Given the description of an element on the screen output the (x, y) to click on. 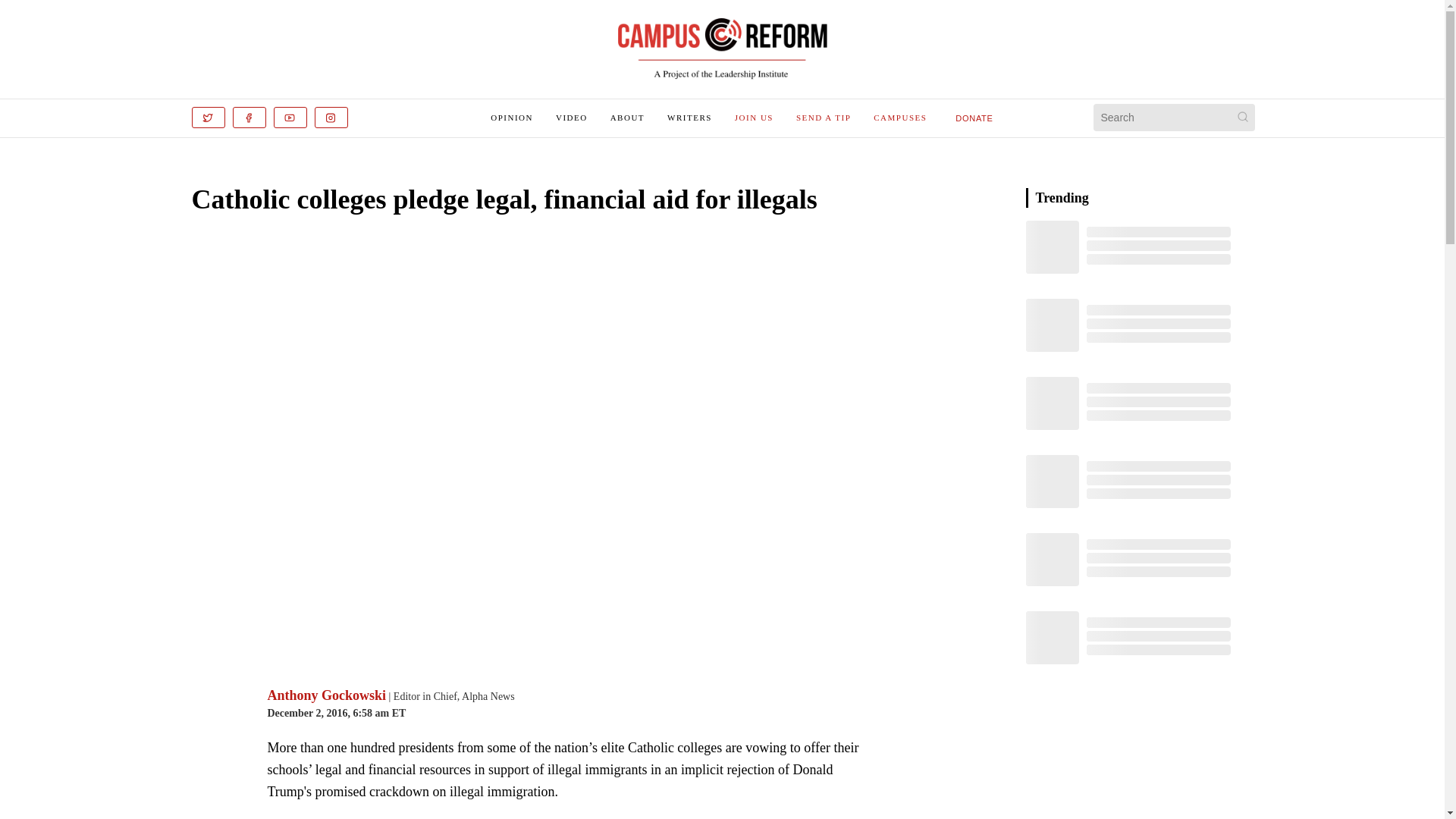
JOIN US (754, 117)
SEND A TIP (823, 117)
WRITERS (688, 117)
DONATE (974, 117)
DONATE (974, 117)
ABOUT (627, 117)
VIDEO (572, 117)
OPINION (511, 117)
CAMPUSES (899, 117)
